Given the description of an element on the screen output the (x, y) to click on. 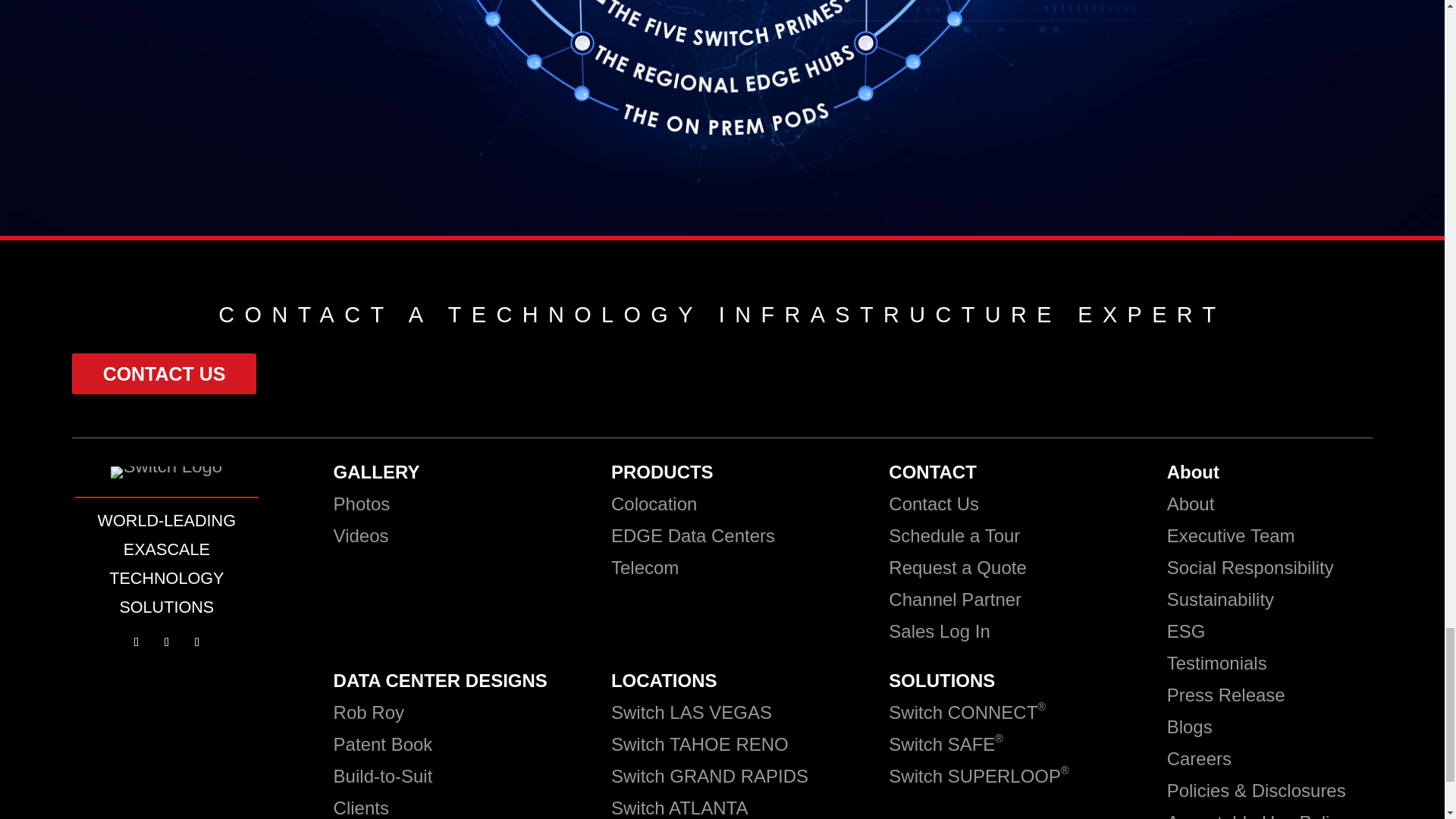
Switch CLIENTS (360, 807)
Switch VIDEOS (360, 535)
Follow on Facebook (135, 641)
Switch LAS VEGAS (691, 711)
Switch TELECOM (644, 567)
Switch BUILD TO SUIT (382, 775)
Switch PATENT BOOK (385, 743)
Switch ROB ROY (368, 711)
Follow on X (166, 641)
Switch COLOCATION (654, 503)
